Given the description of an element on the screen output the (x, y) to click on. 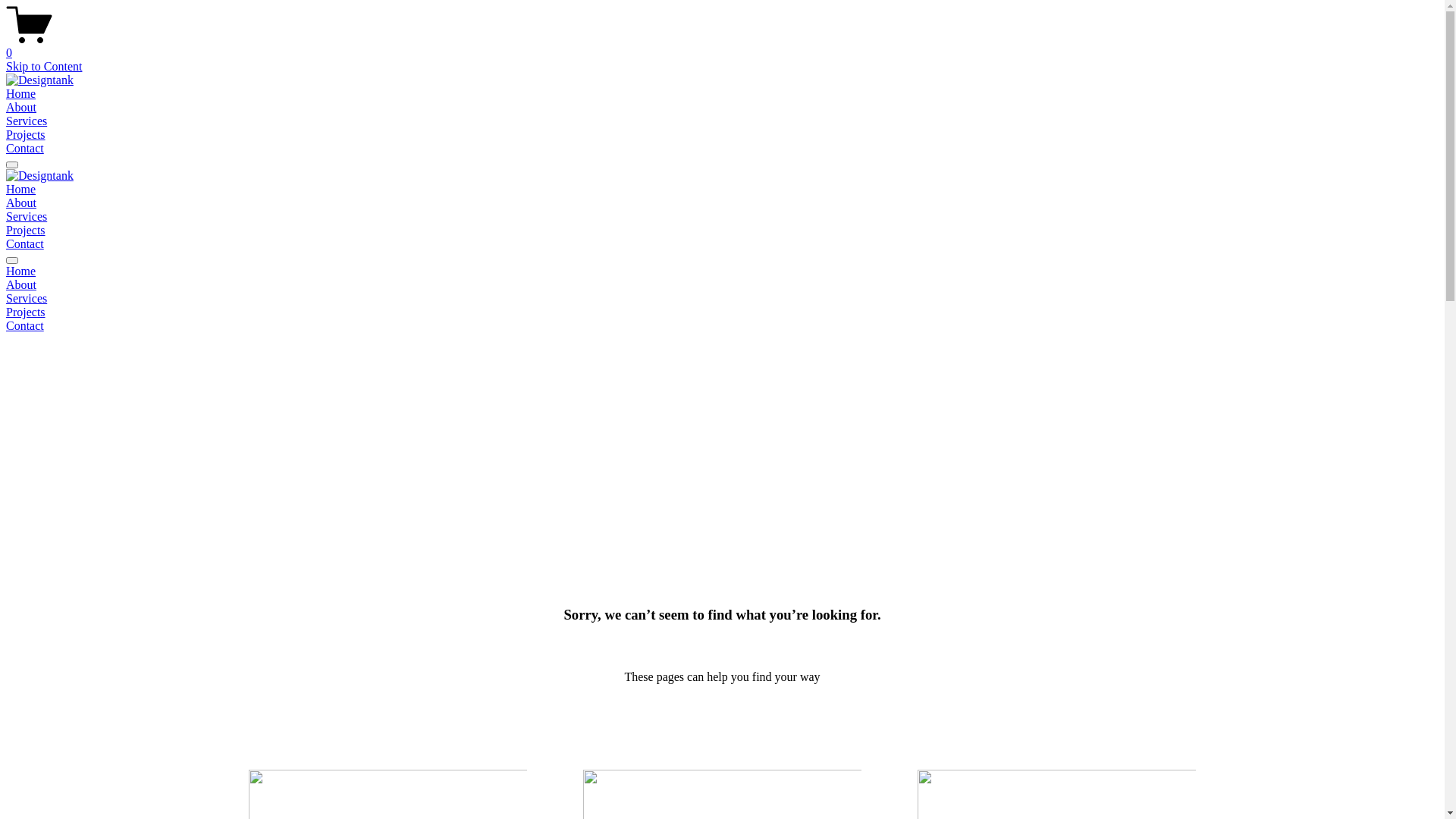
Contact Element type: text (24, 243)
Services Element type: text (26, 120)
Projects Element type: text (722, 312)
Services Element type: text (722, 298)
About Element type: text (21, 202)
Projects Element type: text (25, 134)
Services Element type: text (26, 216)
Skip to Content Element type: text (43, 65)
Contact Element type: text (722, 325)
Home Element type: text (722, 271)
Home Element type: text (20, 93)
Home Element type: text (20, 188)
About Element type: text (21, 106)
Projects Element type: text (25, 229)
About Element type: text (722, 284)
Contact Element type: text (24, 147)
0 Element type: text (722, 45)
